Given the description of an element on the screen output the (x, y) to click on. 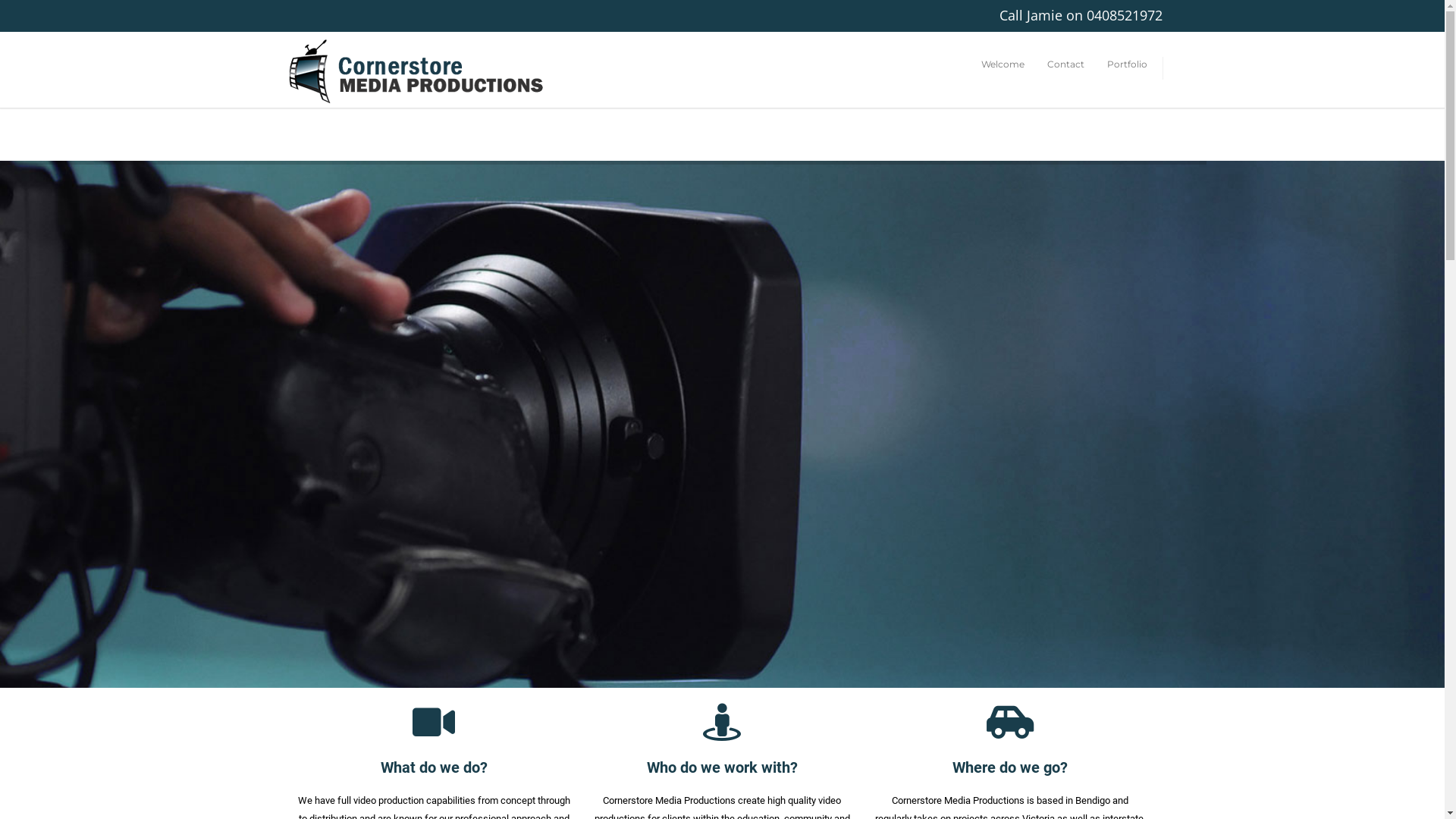
Facebook Element type: hover (297, 15)
Portfolio Element type: text (1126, 63)
Welcome Element type: text (1002, 63)
Contact Element type: text (1065, 63)
Twitter Element type: hover (327, 15)
